Given the description of an element on the screen output the (x, y) to click on. 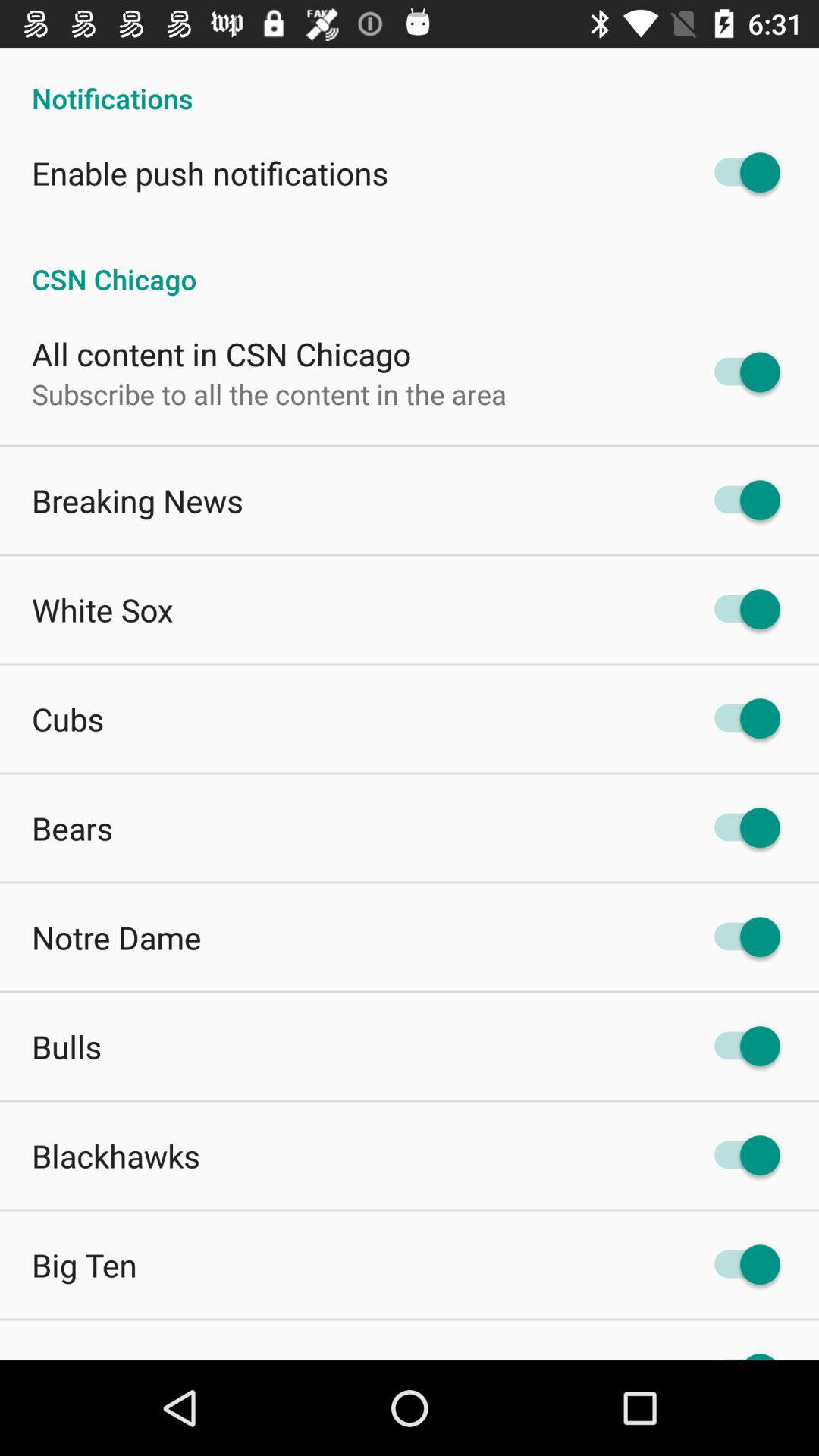
turn on enable push notifications icon (209, 172)
